Given the description of an element on the screen output the (x, y) to click on. 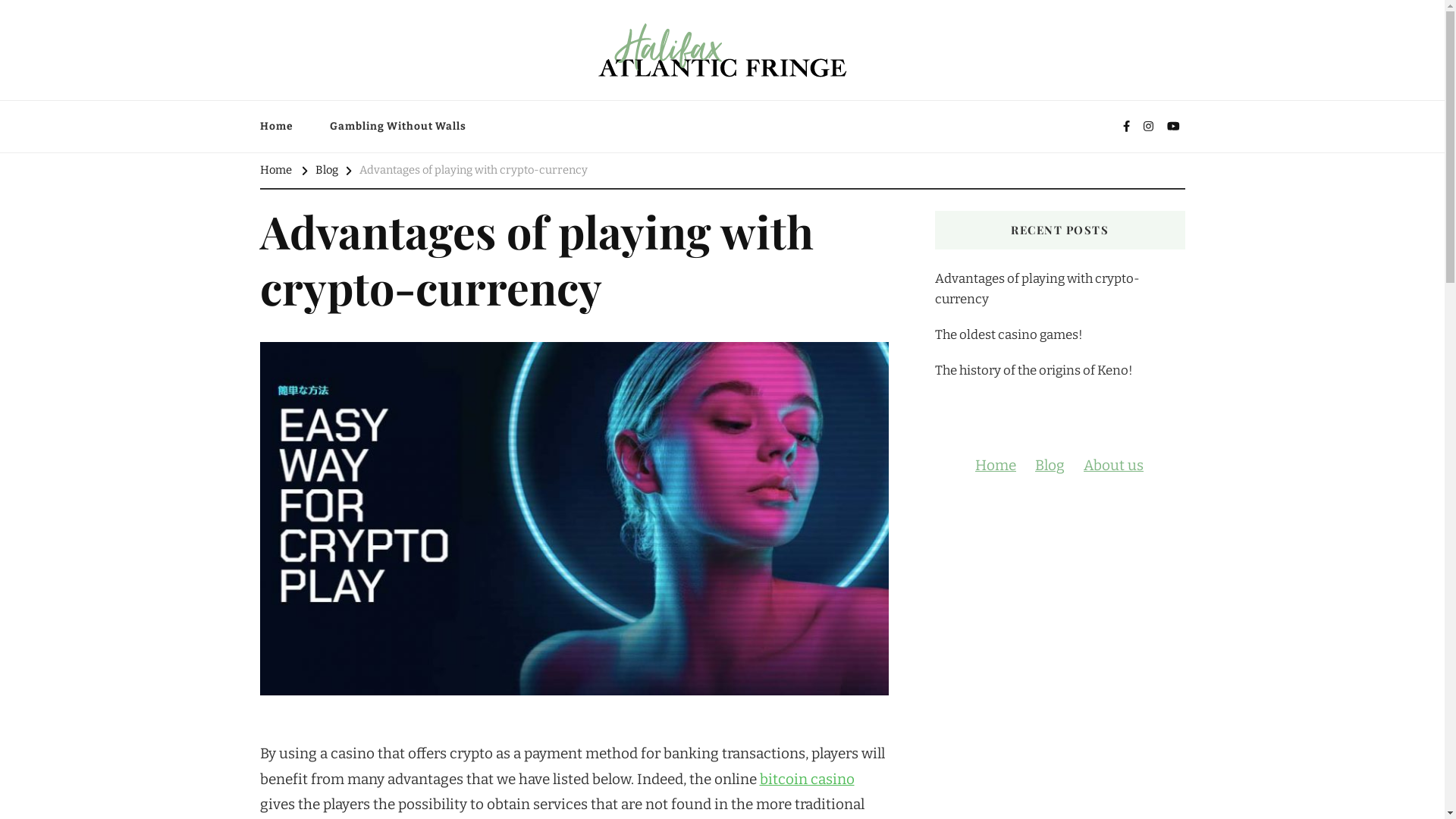
The history of the origins of Keno! Element type: text (1033, 370)
Advantages of playing with crypto-currency Element type: text (1059, 288)
Gambling Without Walls Element type: text (397, 126)
Blog Element type: text (326, 171)
Home Element type: text (995, 464)
The oldest casino games! Element type: text (1008, 334)
Home Element type: text (275, 171)
Home Element type: text (284, 126)
bitcoin casino Element type: text (806, 778)
Blog Element type: text (1049, 464)
Casino Atlantic Fringe, Halifax Element type: text (394, 91)
About us Element type: text (1113, 464)
Advantages of playing with crypto-currency Element type: text (473, 171)
